Given the description of an element on the screen output the (x, y) to click on. 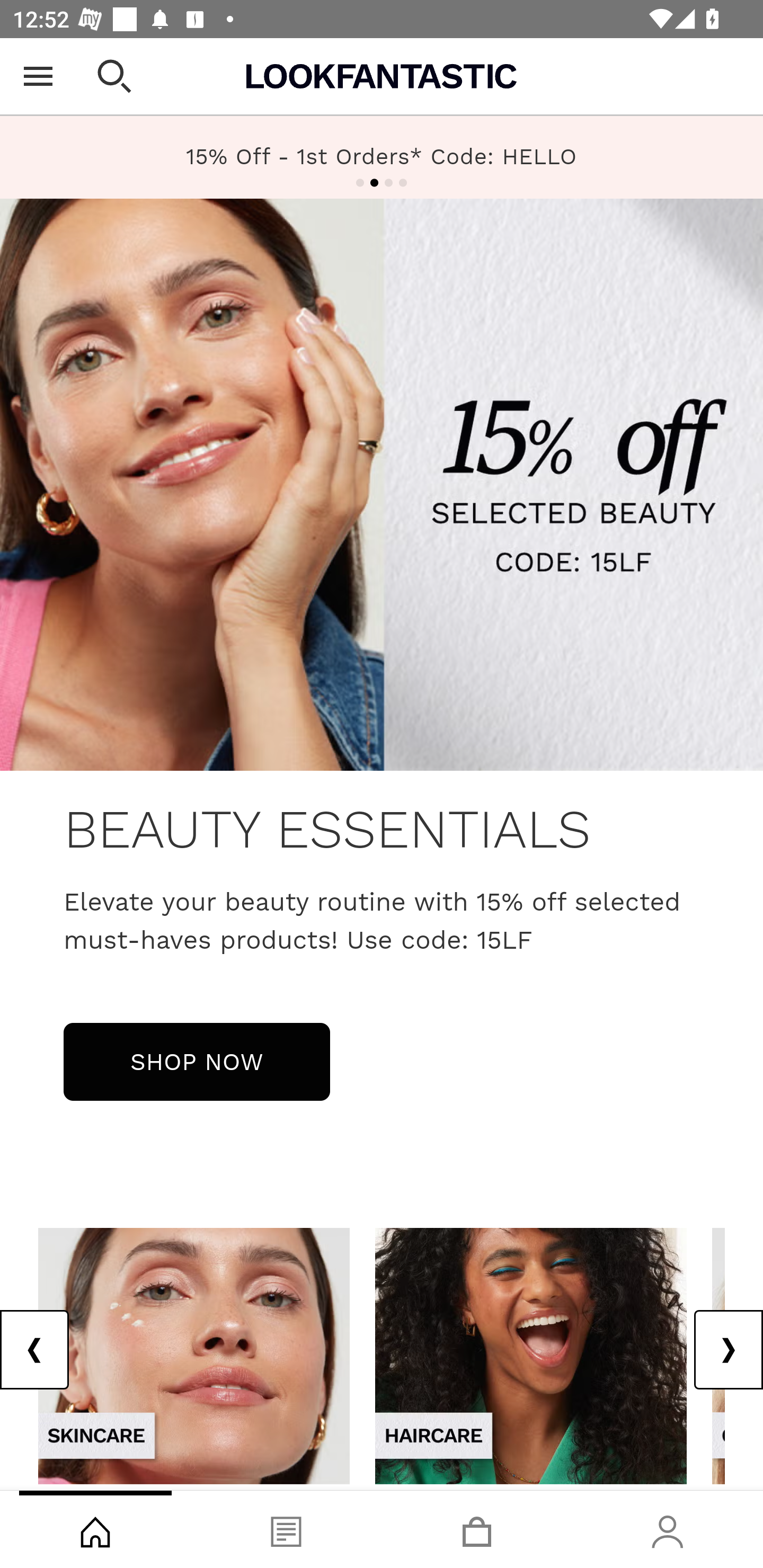
Open Menu (38, 75)
Open search (114, 75)
Lookfantastic USA (381, 75)
FREE US Shipping Over $40 (381, 157)
SHOP NOW (196, 1061)
view-all (193, 1355)
view-all (530, 1355)
Previous (35, 1349)
Next (727, 1349)
Shop, tab, 1 of 4 (95, 1529)
Blog, tab, 2 of 4 (285, 1529)
Basket, tab, 3 of 4 (476, 1529)
Account, tab, 4 of 4 (667, 1529)
